Given the description of an element on the screen output the (x, y) to click on. 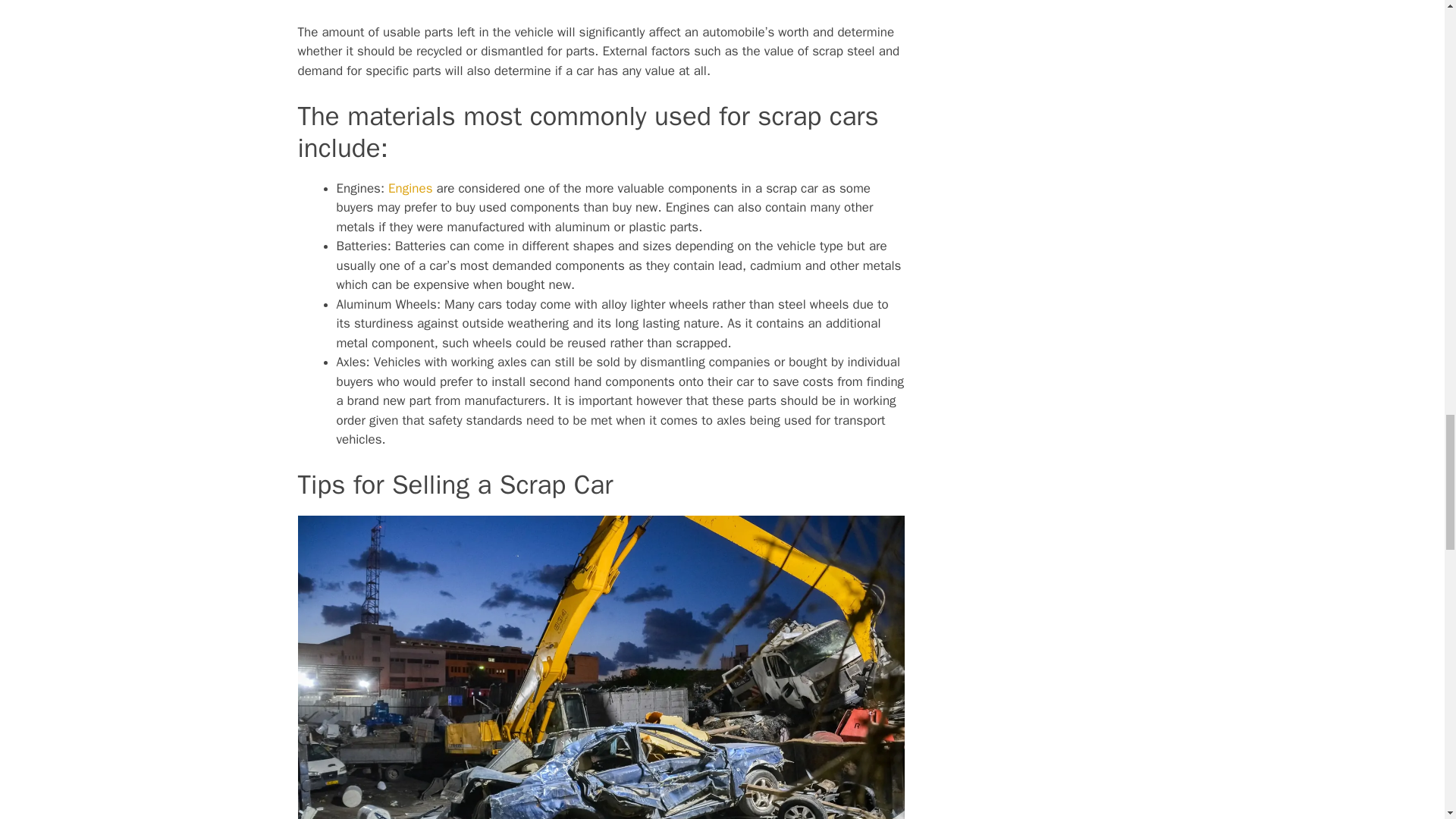
Engines (410, 188)
